Given the description of an element on the screen output the (x, y) to click on. 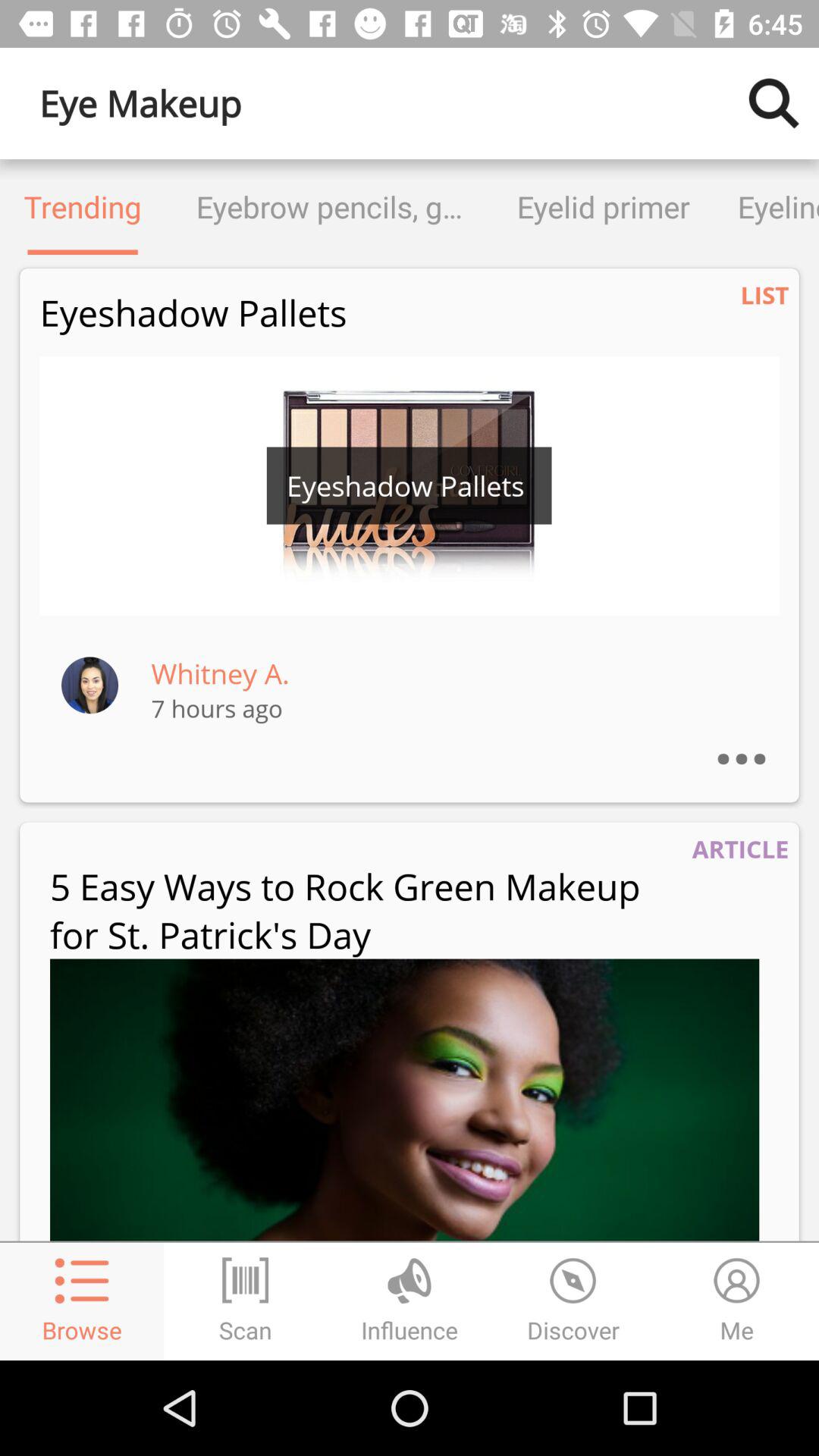
scroll until eyebrow pencils gels item (329, 206)
